Given the description of an element on the screen output the (x, y) to click on. 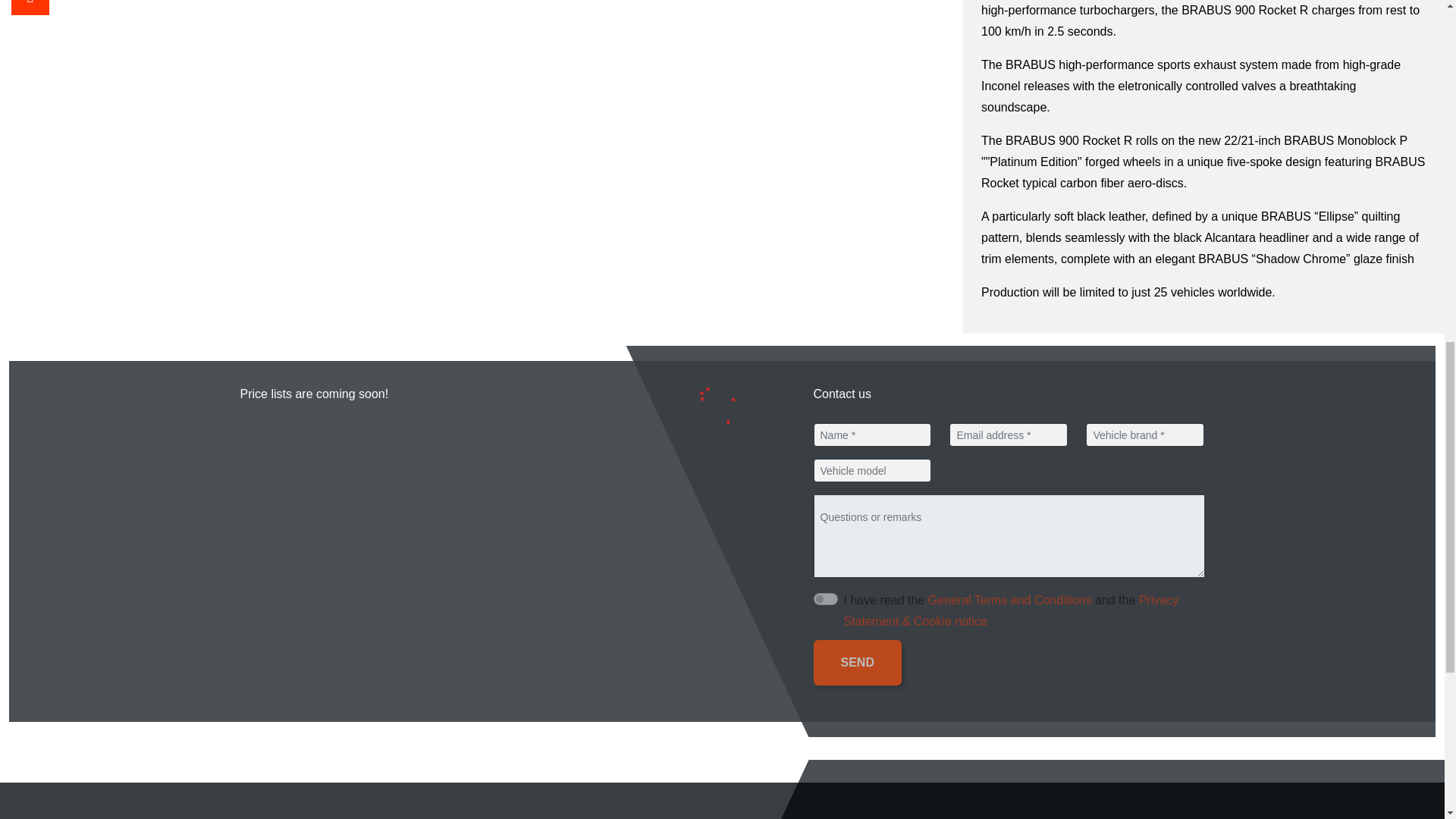
SEND (856, 662)
General Terms and Conditions (1010, 599)
on (824, 598)
